Given the description of an element on the screen output the (x, y) to click on. 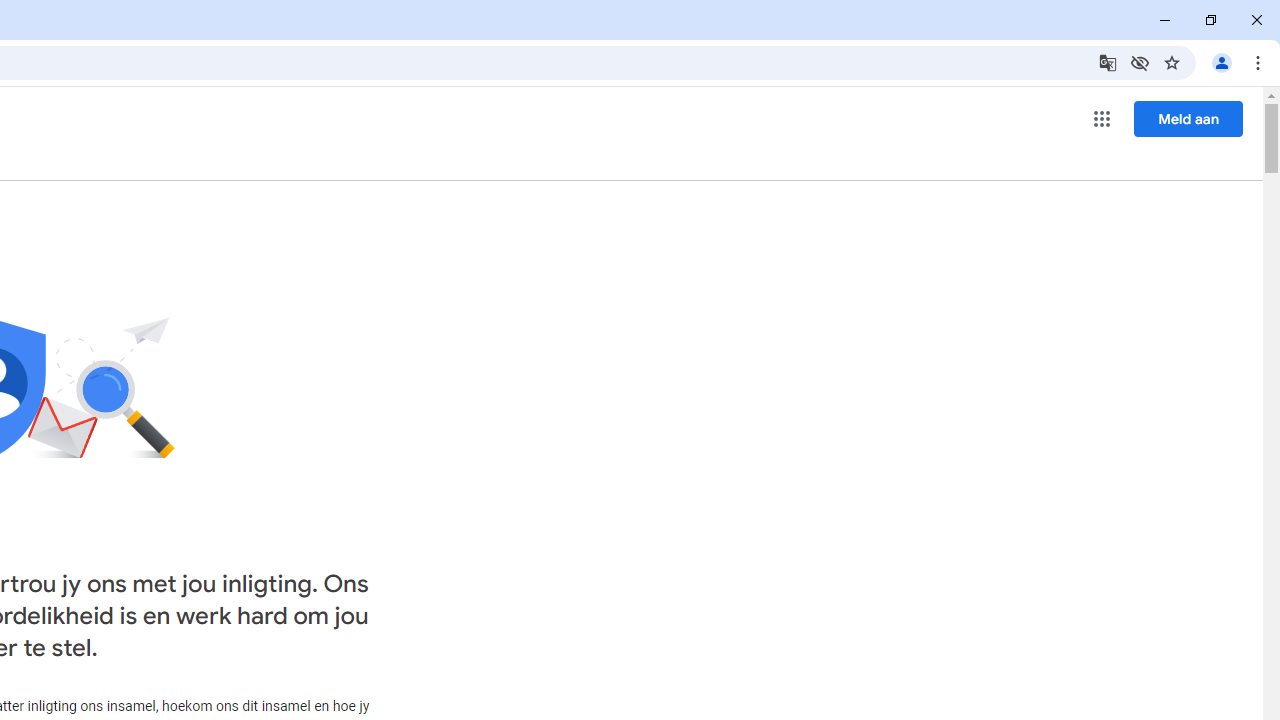
Google-programme (1101, 118)
Translate this page (1107, 62)
Meld aan (1188, 118)
